Given the description of an element on the screen output the (x, y) to click on. 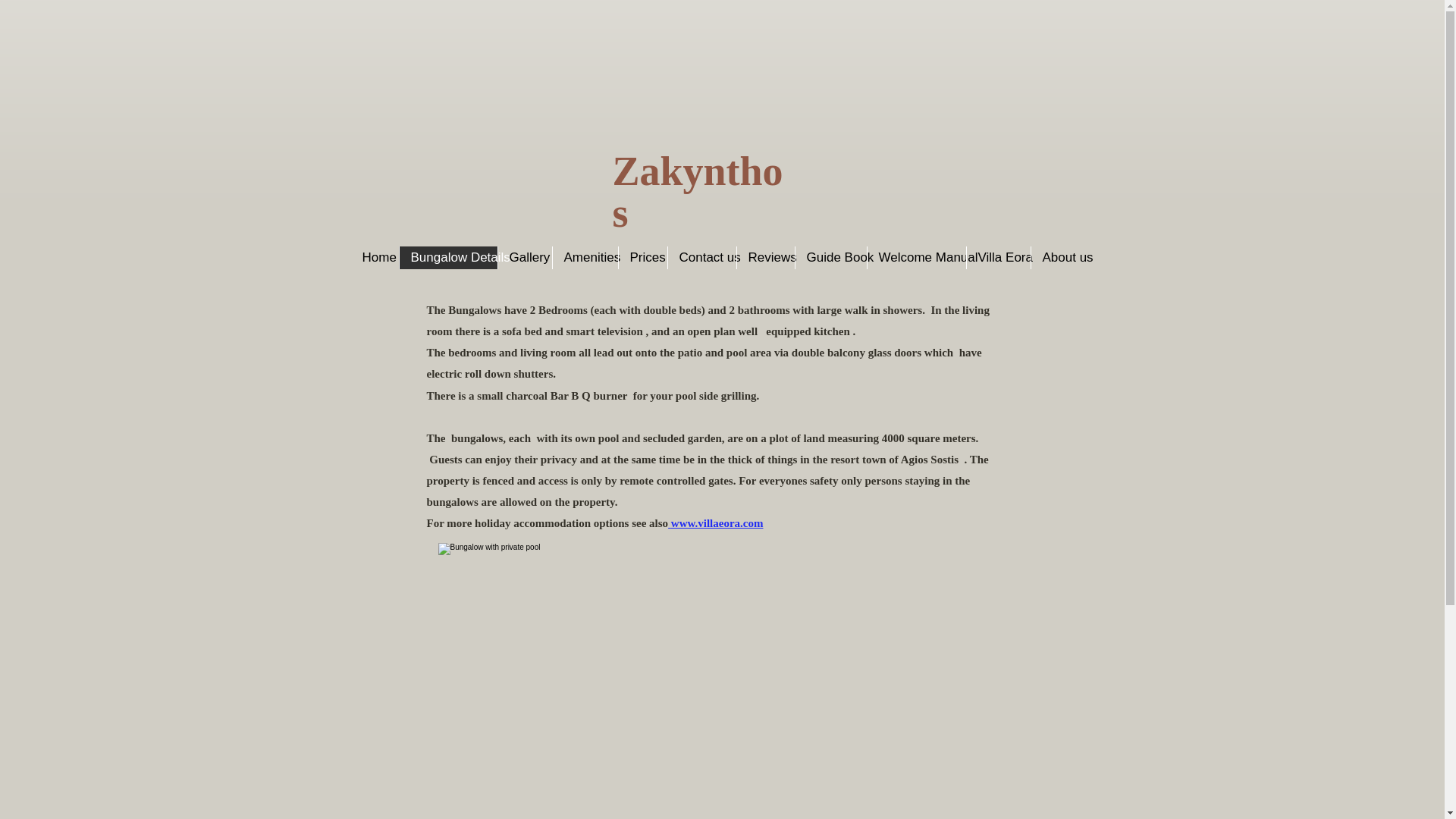
Bungalow Details (447, 257)
Contact us (701, 257)
Prices (641, 257)
Welcome Manual (915, 257)
Gallery (524, 257)
Home (373, 257)
www.villaeora.com (716, 522)
Reviews (764, 257)
Villa Eora (998, 257)
Amenities (584, 257)
